Given the description of an element on the screen output the (x, y) to click on. 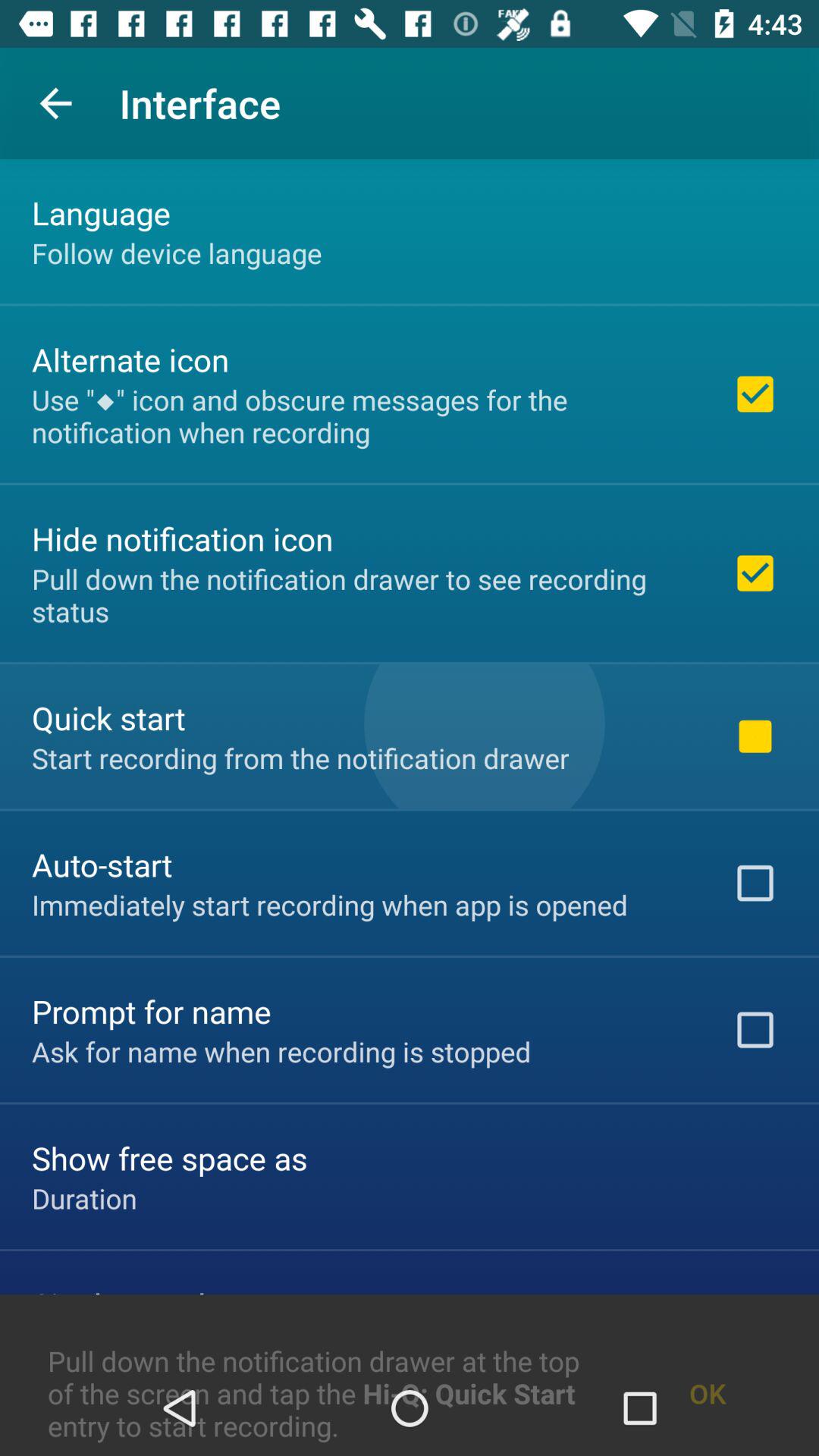
launch item above language (55, 103)
